Given the description of an element on the screen output the (x, y) to click on. 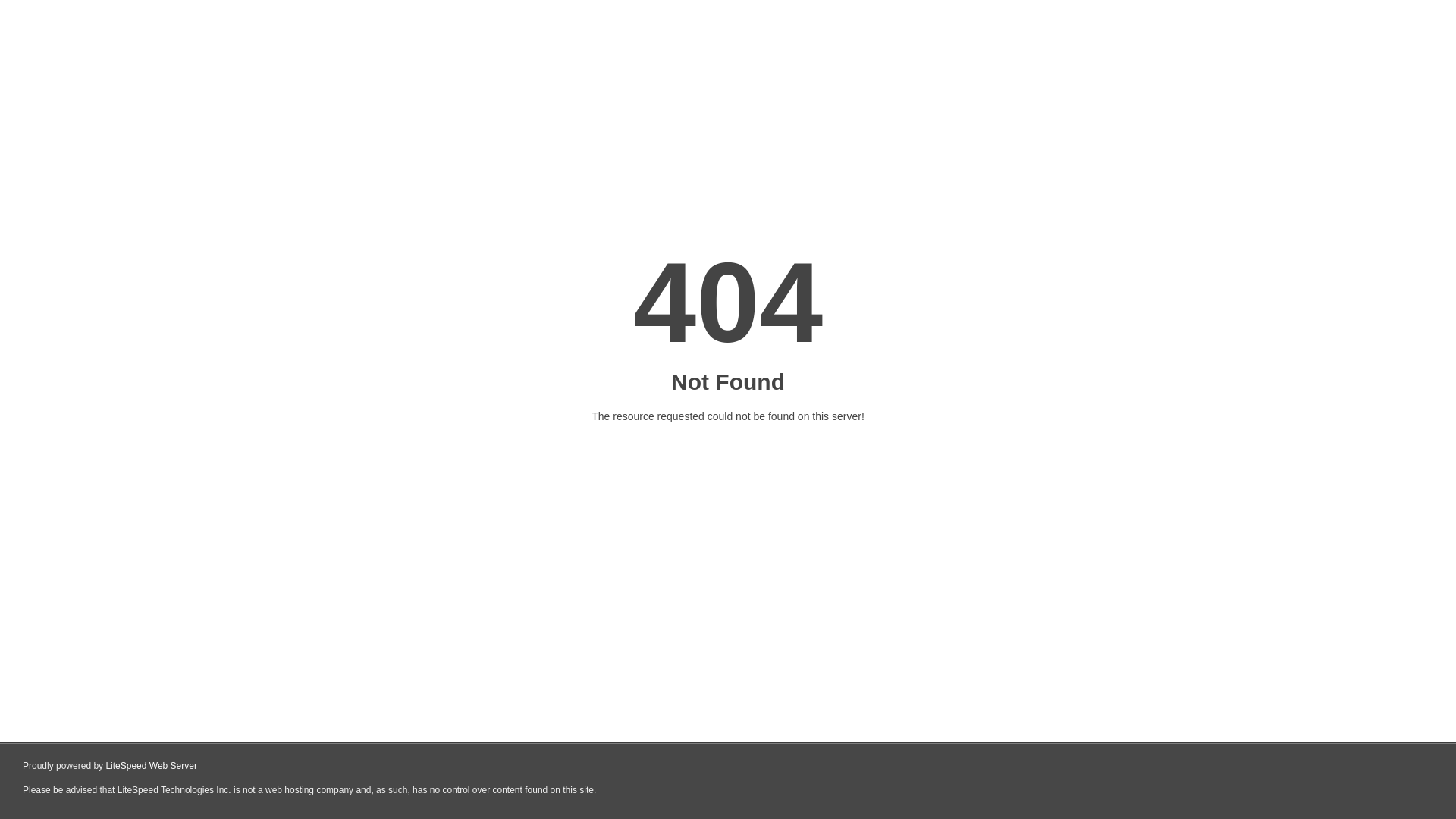
LiteSpeed Web Server Element type: text (151, 765)
